Given the description of an element on the screen output the (x, y) to click on. 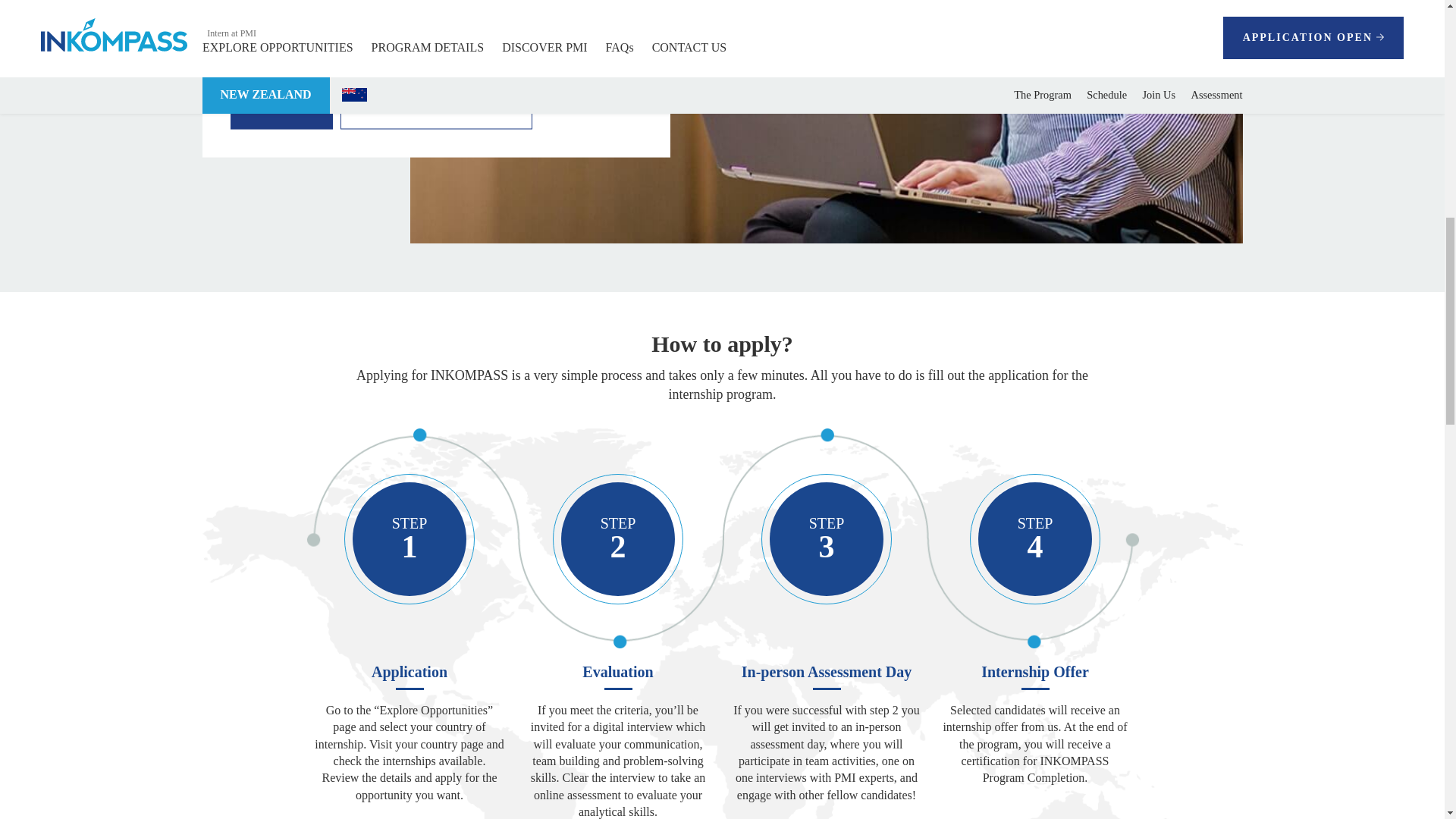
SHARE OPPORTUNITY (436, 107)
